Given the description of an element on the screen output the (x, y) to click on. 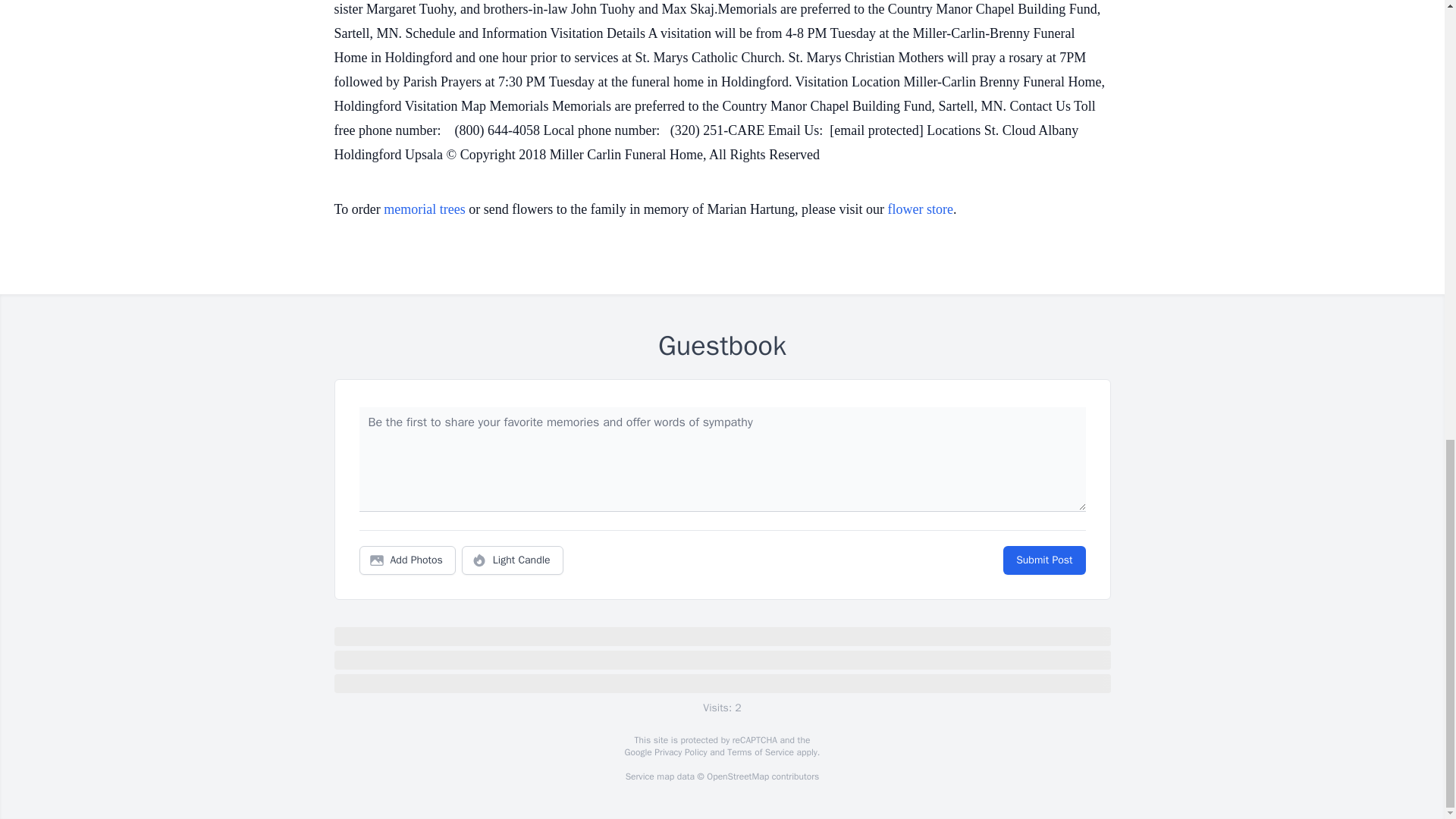
OpenStreetMap (737, 776)
Submit Post (1043, 560)
memorial trees (424, 209)
Add Photos (407, 560)
Terms of Service (759, 752)
Light Candle (512, 560)
flower store (920, 209)
Privacy Policy (679, 752)
